Given the description of an element on the screen output the (x, y) to click on. 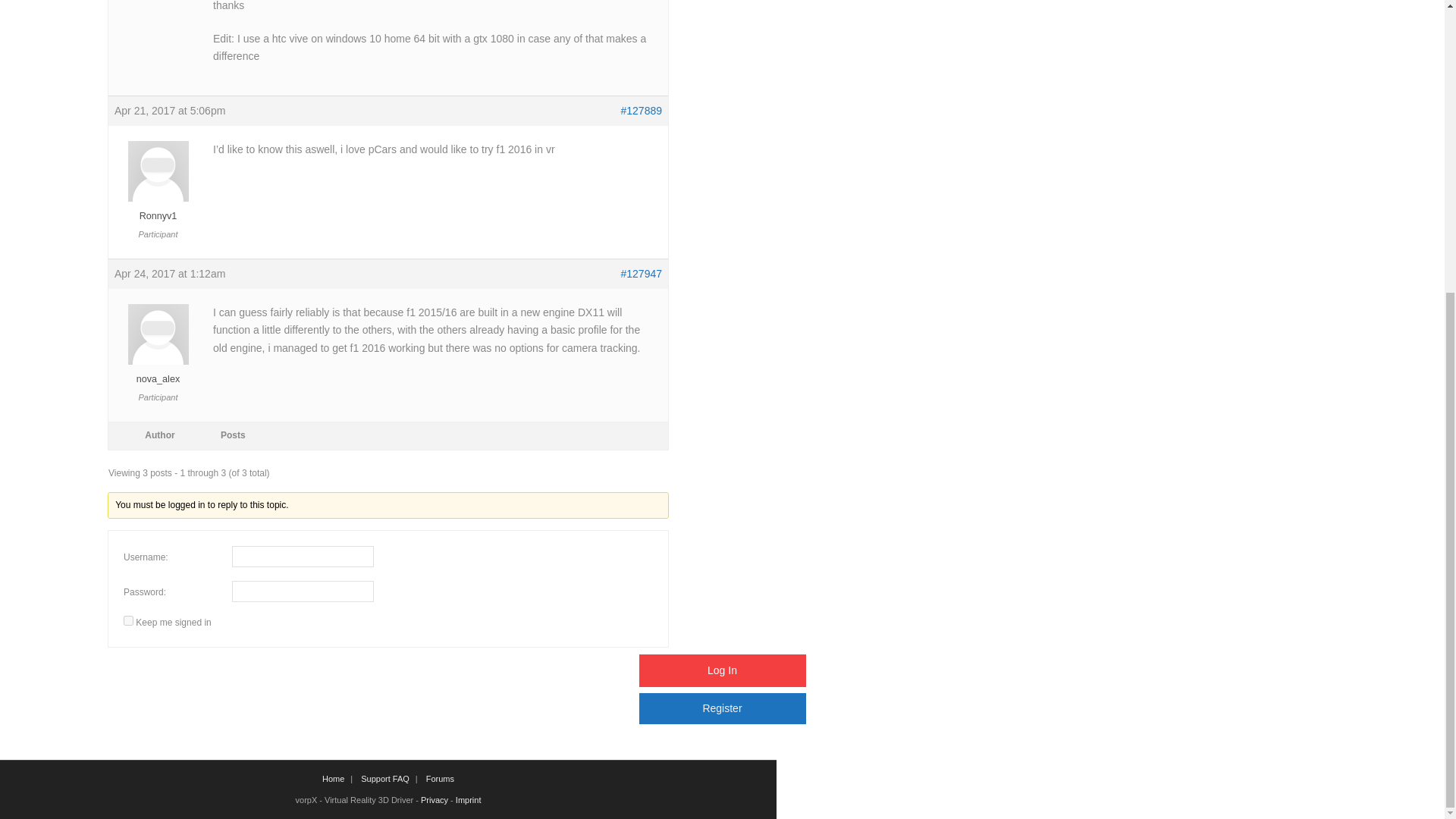
forever (128, 620)
View Ronnyv1's profile (158, 209)
Ronnyv1 (158, 209)
Home (332, 777)
